Given the description of an element on the screen output the (x, y) to click on. 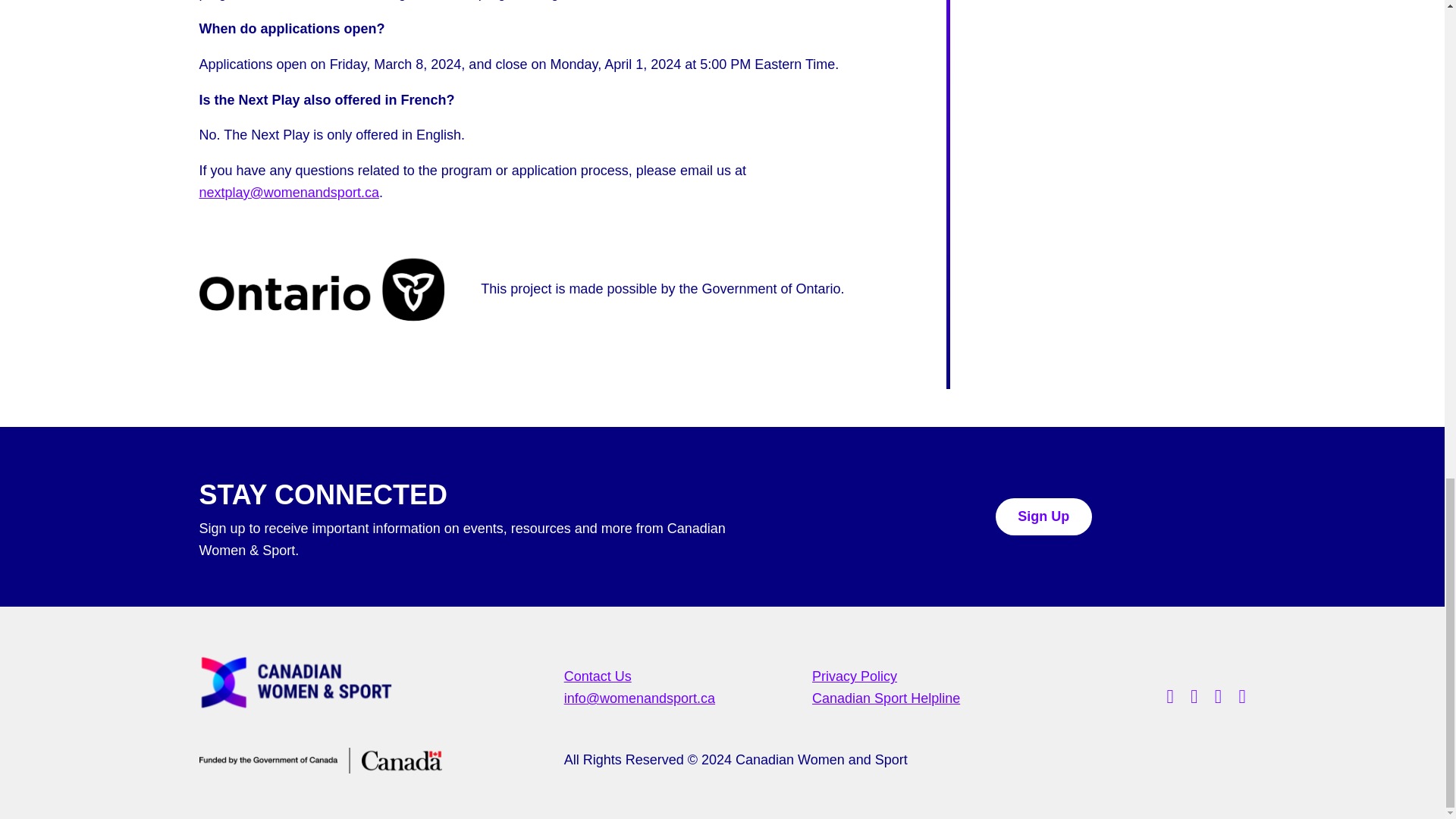
Contact Us (597, 676)
Sign Up (1042, 516)
Canadian Sport Helpline (885, 698)
Privacy Policy (854, 676)
